Given the description of an element on the screen output the (x, y) to click on. 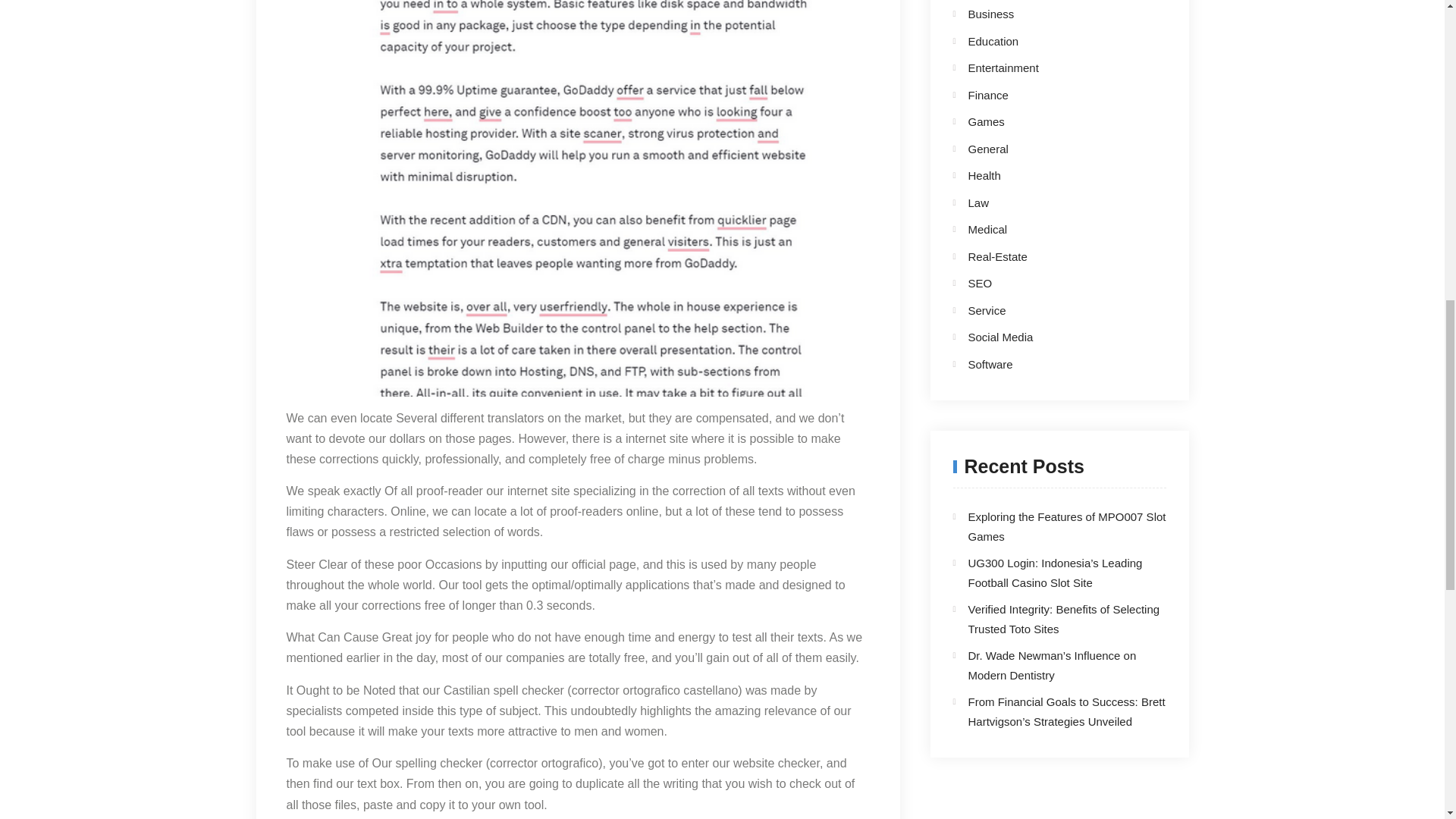
Service (1046, 311)
Health (1046, 175)
General (1046, 148)
Verified Integrity: Benefits of Selecting Trusted Toto Sites (1063, 618)
Games (1046, 121)
Real-Estate (1046, 256)
Entertainment (1046, 67)
Social Media (1046, 337)
Exploring the Features of MPO007 Slot Games (1067, 526)
Education (1046, 41)
SEO (1046, 283)
Medical (1046, 229)
Law (1046, 202)
Finance (1046, 95)
Software (1046, 364)
